Given the description of an element on the screen output the (x, y) to click on. 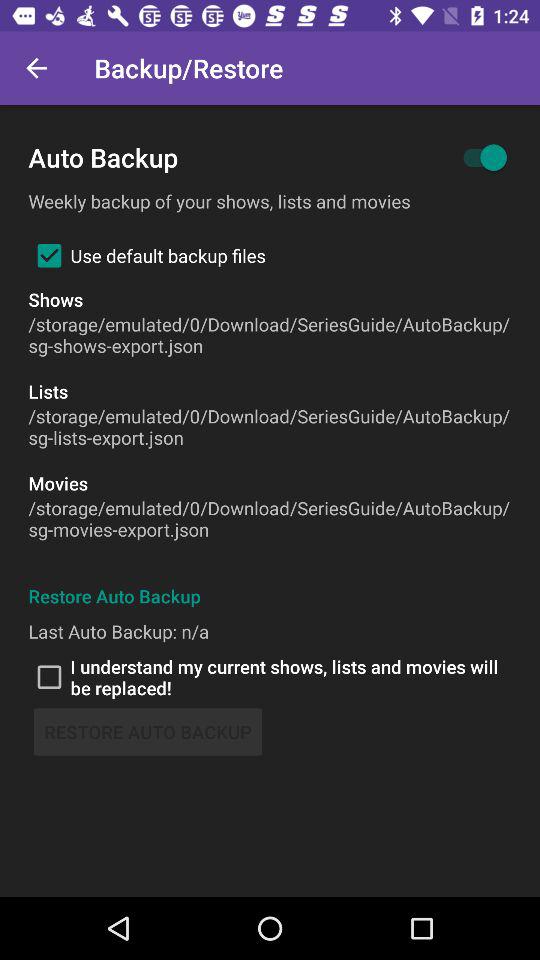
turn off the item below last auto backup (269, 677)
